Given the description of an element on the screen output the (x, y) to click on. 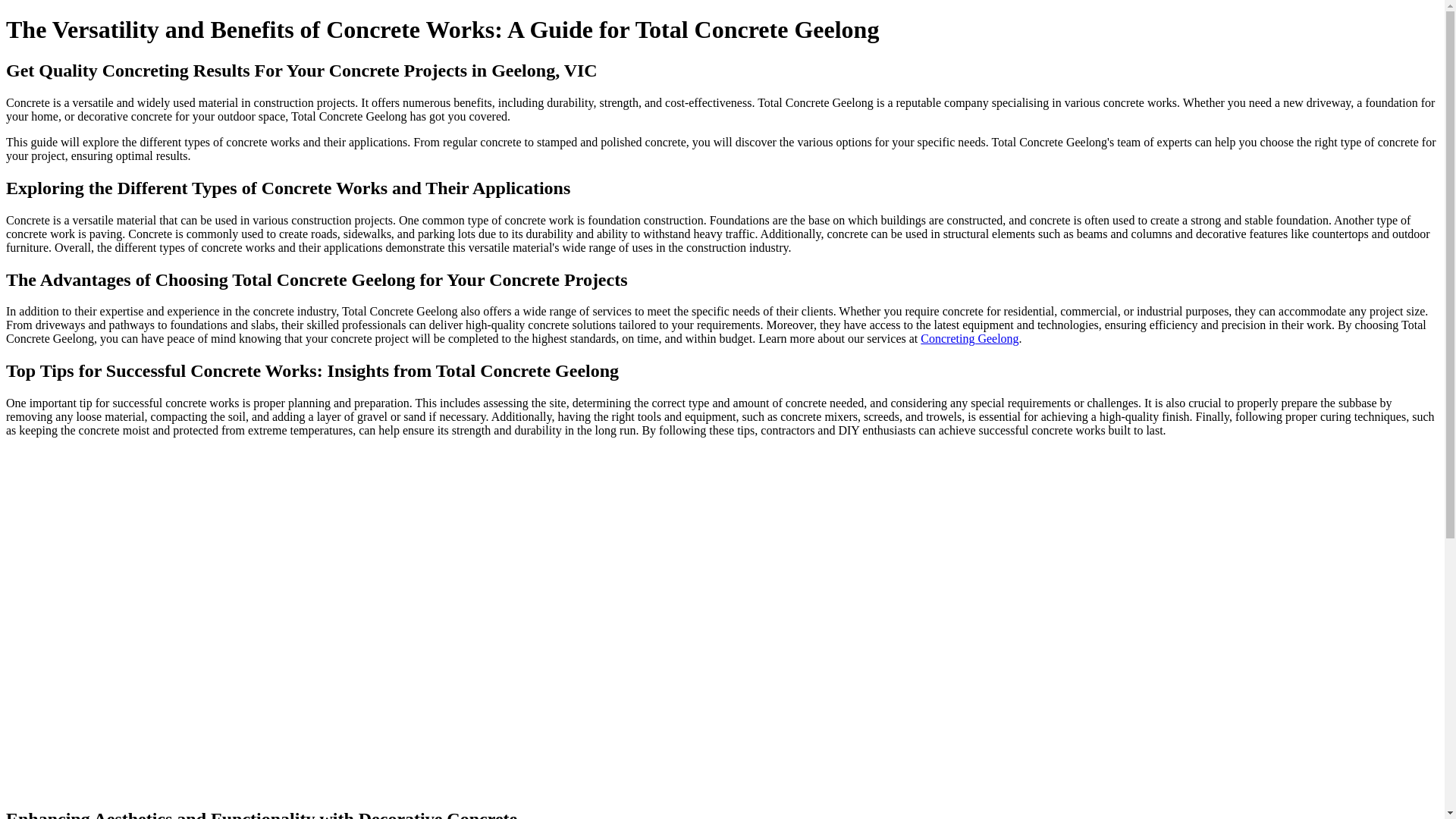
Concreting Geelong Element type: text (969, 338)
